Given the description of an element on the screen output the (x, y) to click on. 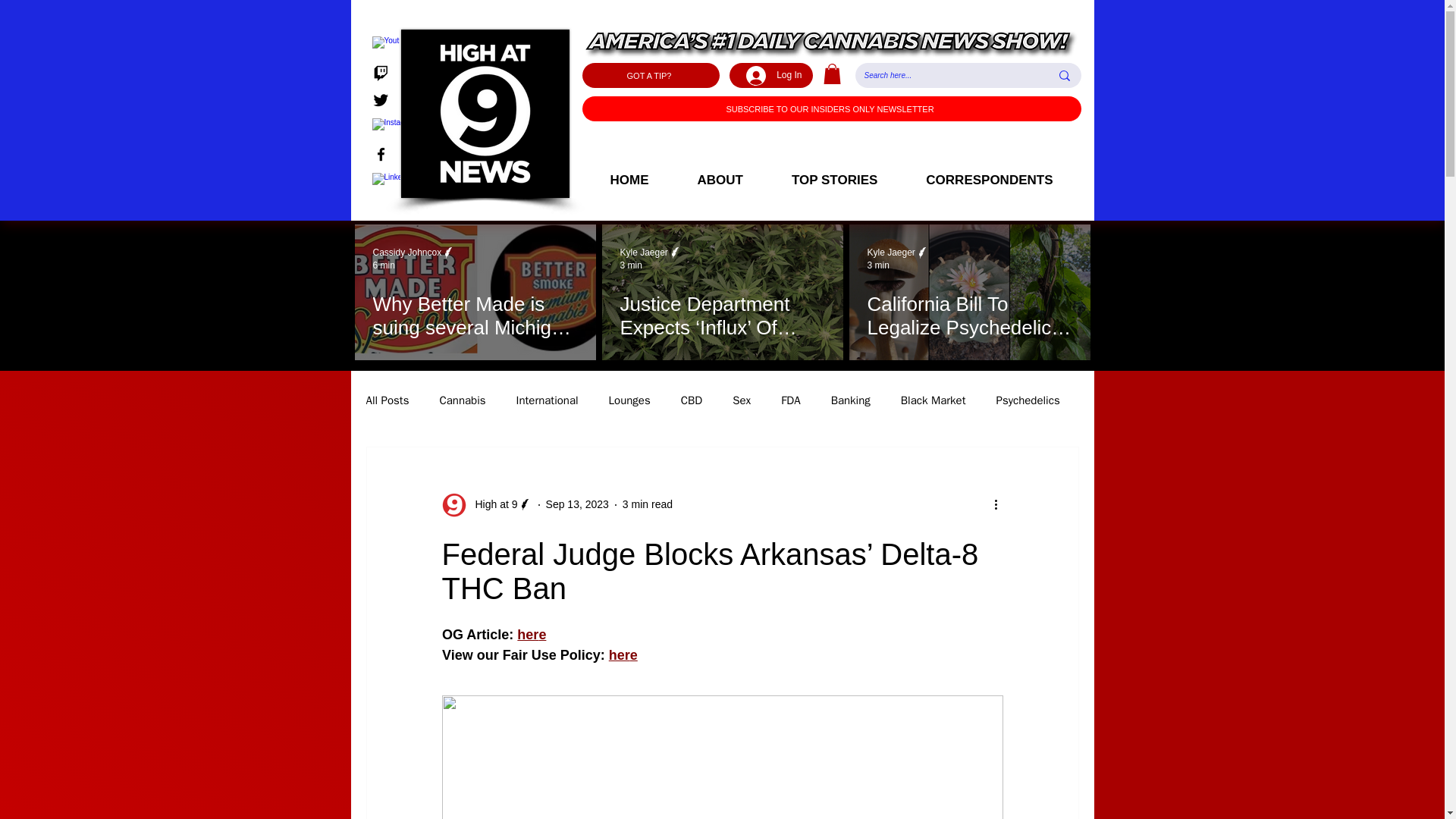
Banking (850, 400)
All Posts (387, 400)
TOP STORIES (834, 180)
Cannabis (461, 400)
ABOUT (719, 180)
Kyle Jaeger (891, 252)
Cassidy Johncox (414, 252)
3 min read (647, 503)
3 min (878, 264)
CORRESPONDENTS (989, 180)
Log In (773, 74)
Psychedelics (1027, 400)
FDA (789, 400)
GOT A TIP? (650, 75)
